Given the description of an element on the screen output the (x, y) to click on. 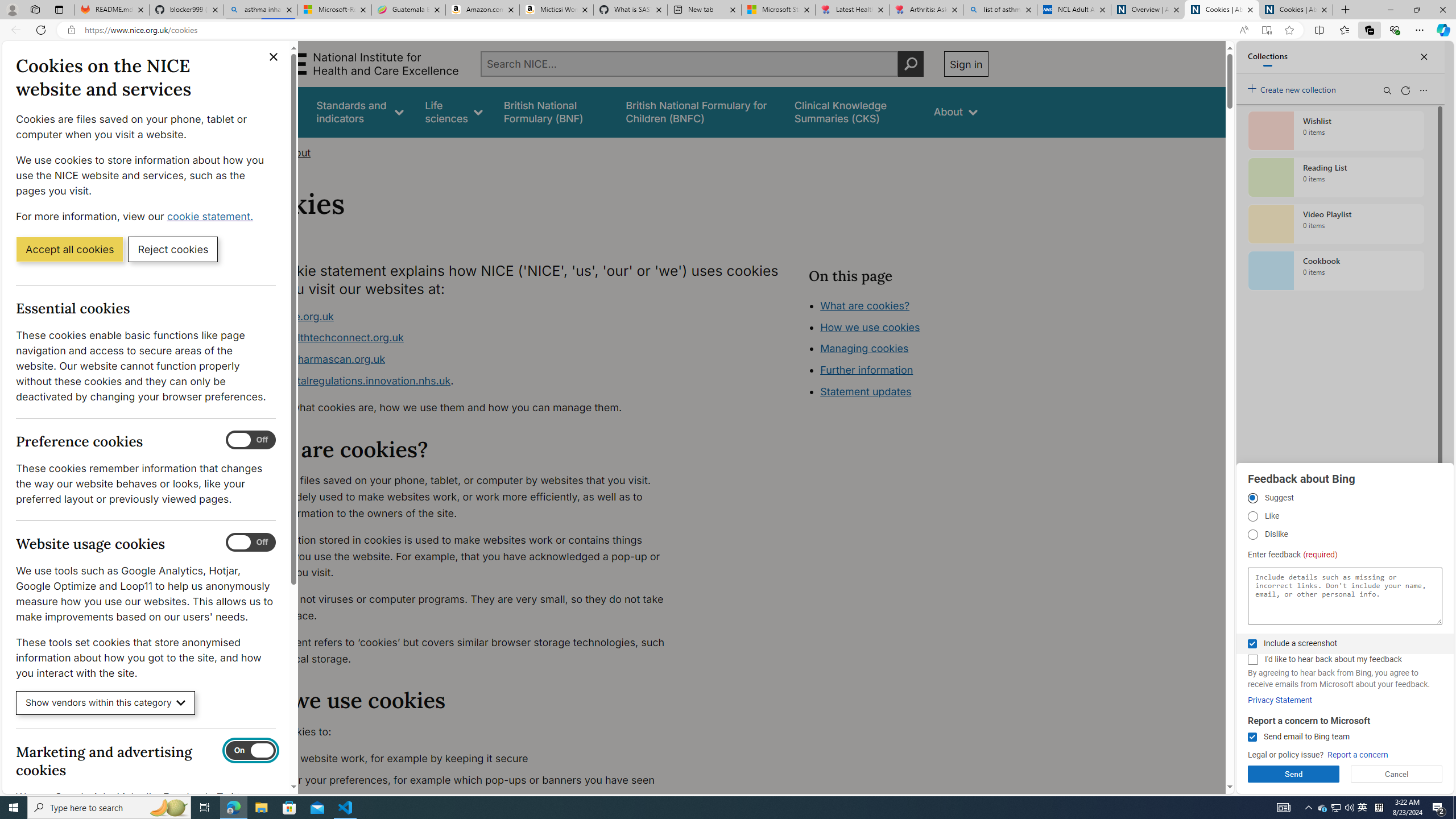
list of asthma inhalers uk - Search (1000, 9)
www.nice.org.uk (464, 316)
What are cookies? (864, 305)
Statement updates (865, 391)
Close cookie banner (273, 56)
About (955, 111)
Reject cookies (173, 248)
www.healthtechconnect.org.uk (327, 337)
www.nice.org.uk (292, 315)
